Given the description of an element on the screen output the (x, y) to click on. 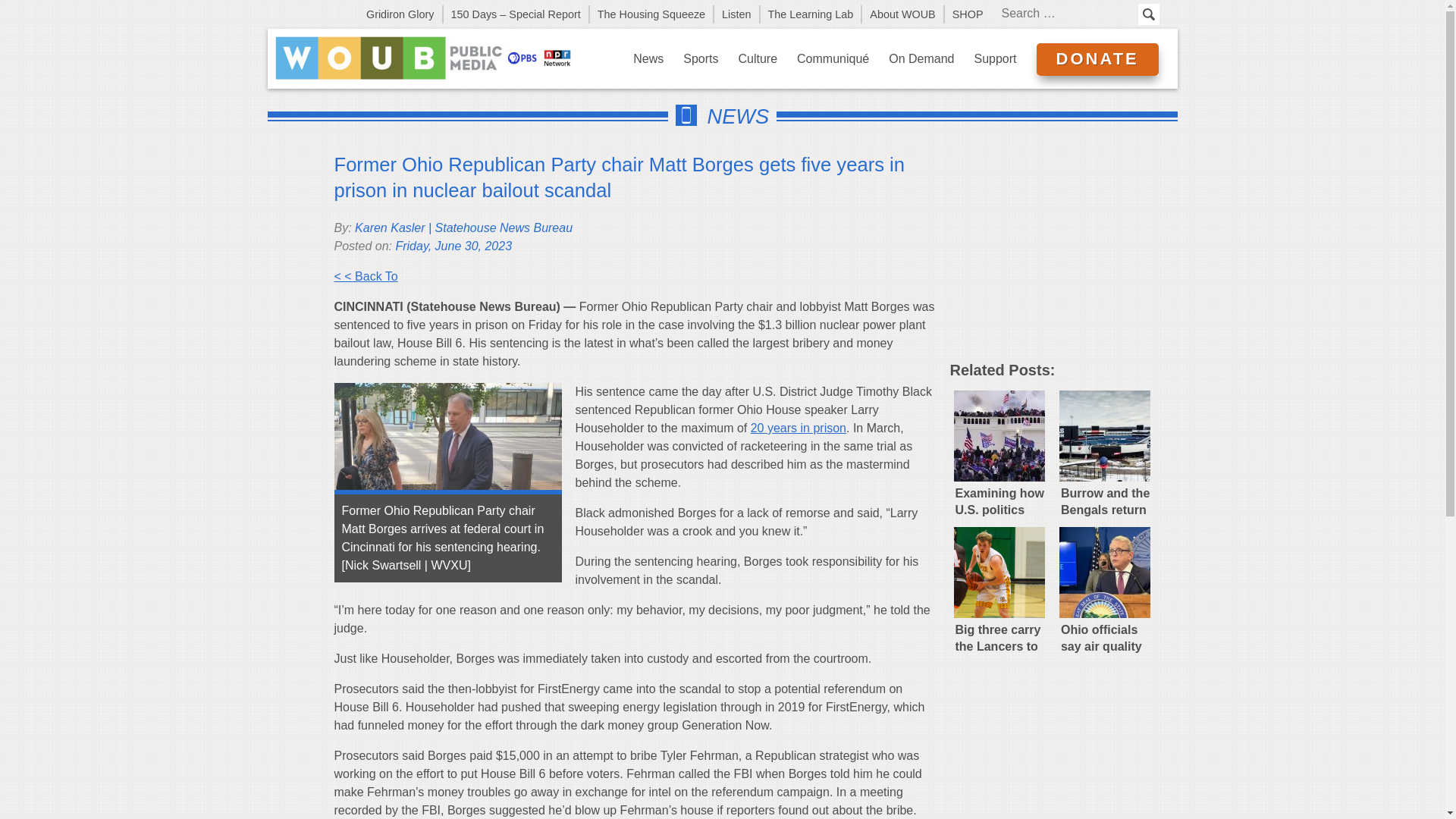
Listen (737, 13)
DONATE (1096, 59)
Friday, June 30, 2023 (453, 245)
Support (994, 58)
3rd party ad content (1062, 253)
Culture (757, 58)
News (647, 58)
Sports (700, 58)
SHOP (967, 13)
communique (833, 58)
sports (700, 58)
culture (757, 58)
